Given the description of an element on the screen output the (x, y) to click on. 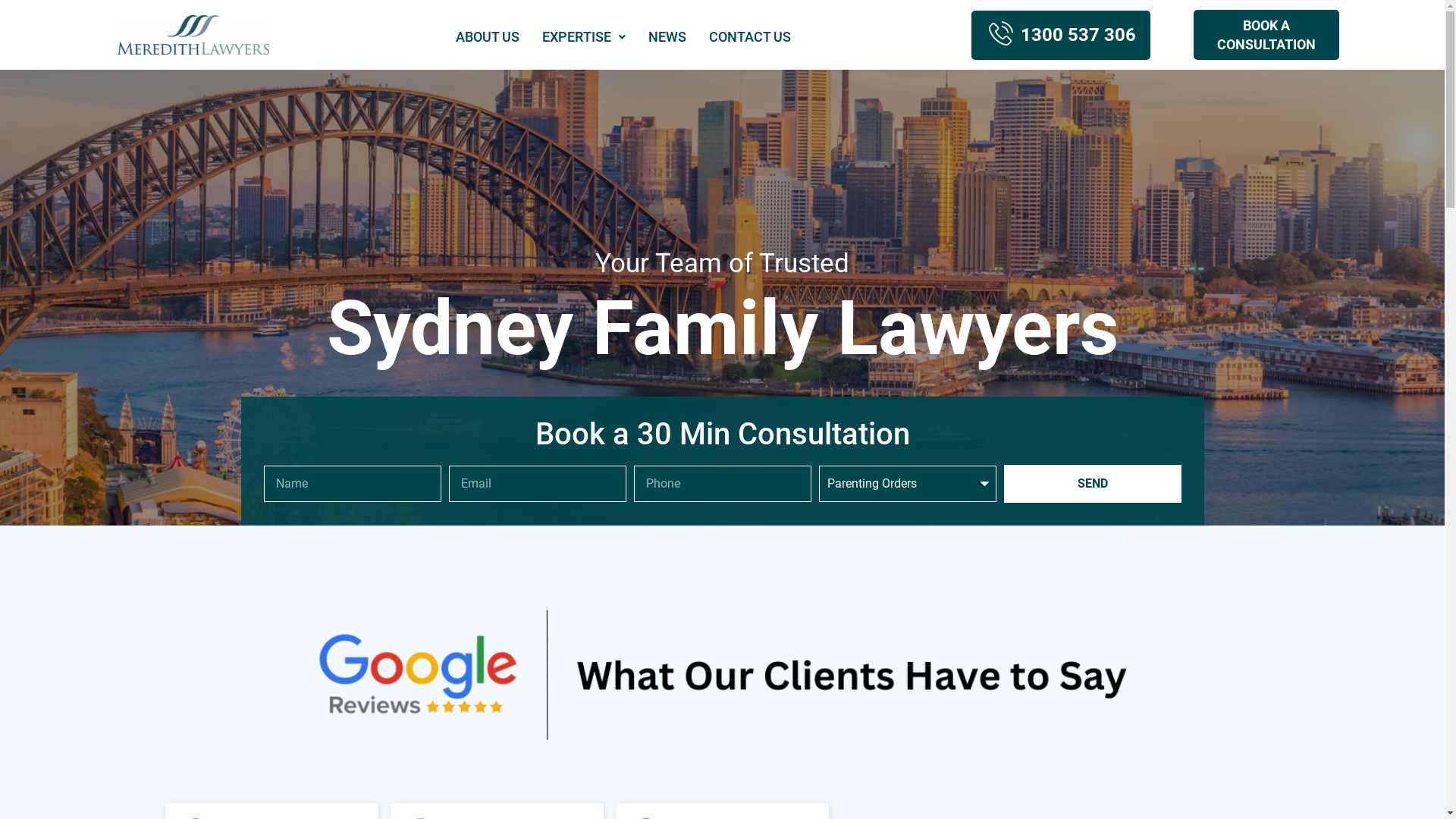
1300 537 306 Element type: text (1060, 34)
BOOK A
CONSULTATION Element type: text (1266, 34)
CONTACT US Element type: text (749, 36)
NEWS Element type: text (667, 36)
ABOUT US Element type: text (487, 36)
EXPERTISE Element type: text (583, 36)
SEND Element type: text (1092, 483)
